Given the description of an element on the screen output the (x, y) to click on. 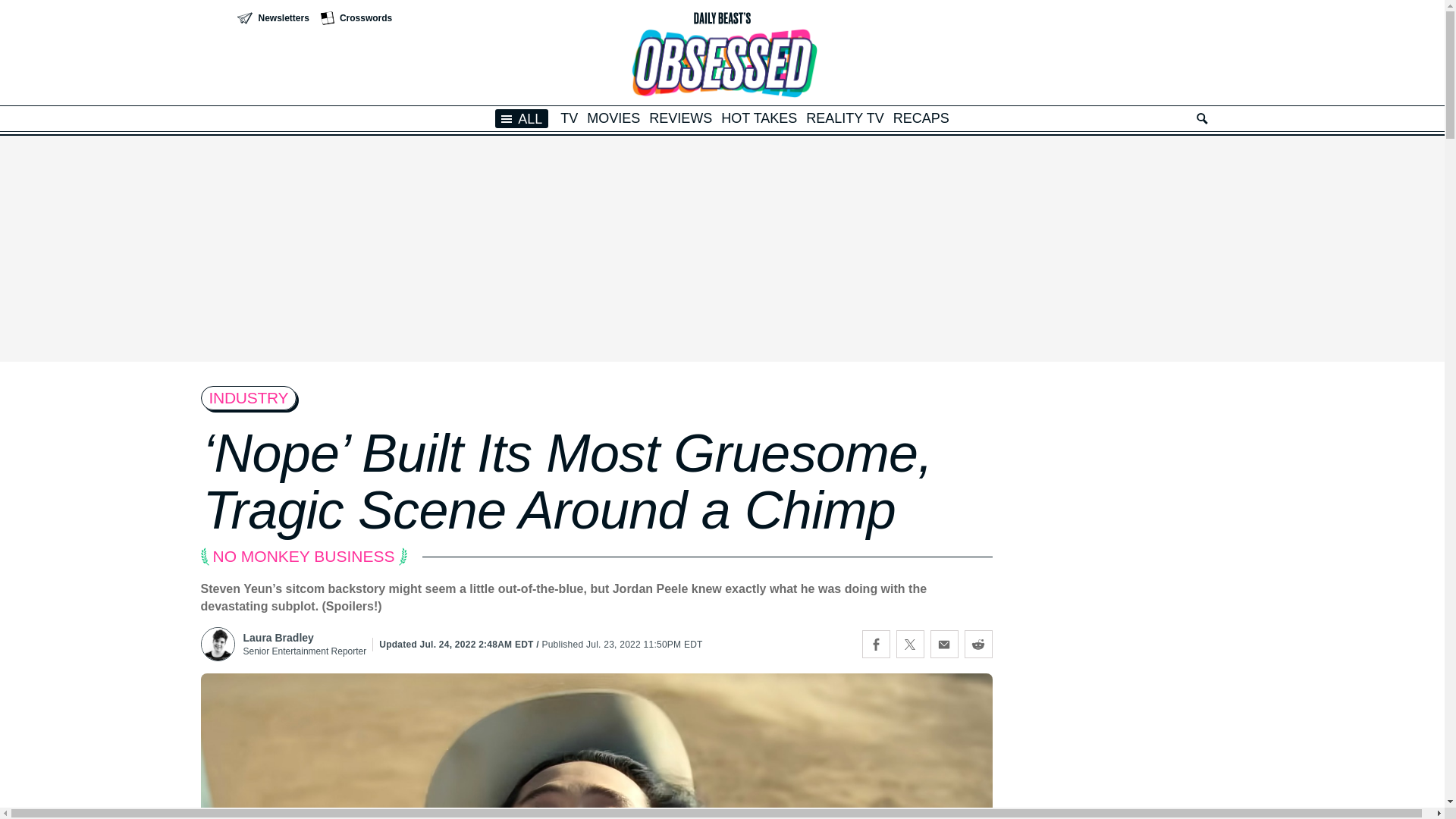
TV (569, 118)
RECAPS (921, 118)
Laura Bradley (304, 637)
Crosswords (356, 18)
MOVIES (613, 118)
Newsletters (271, 18)
ALL (521, 117)
REVIEWS (680, 118)
Senior Entertainment Reporter (304, 651)
REALITY TV (844, 118)
